Given the description of an element on the screen output the (x, y) to click on. 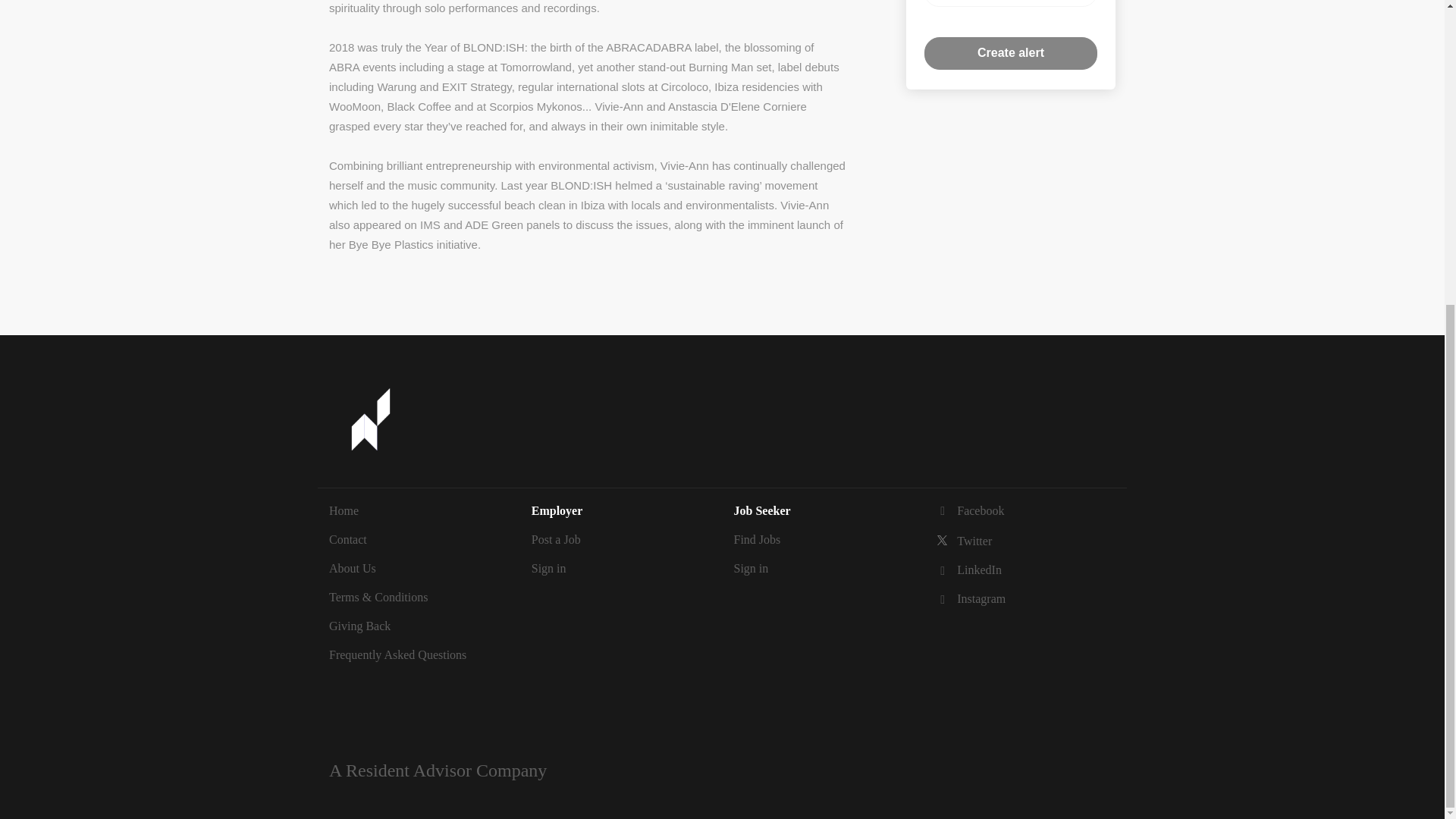
Twitter (963, 540)
Create alert (1010, 52)
Sign in (750, 567)
Sign in (548, 567)
About Us (352, 567)
Instagram (971, 598)
LinkedIn (968, 569)
Post a Job (555, 539)
Home (343, 510)
Contact (347, 539)
